Given the description of an element on the screen output the (x, y) to click on. 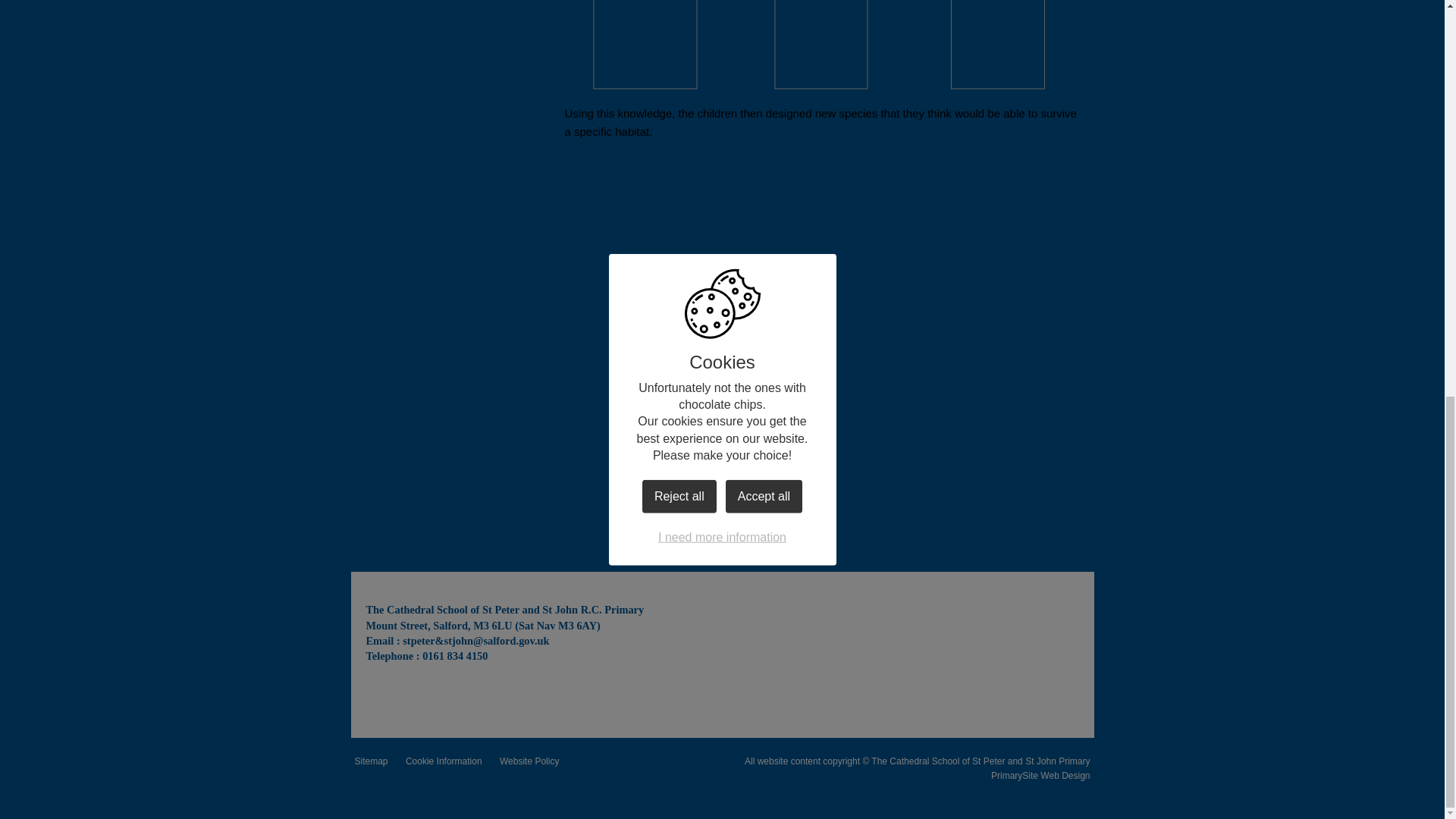
View large version of image (644, 44)
View large version of image (997, 44)
View large version of image (821, 44)
